Given the description of an element on the screen output the (x, y) to click on. 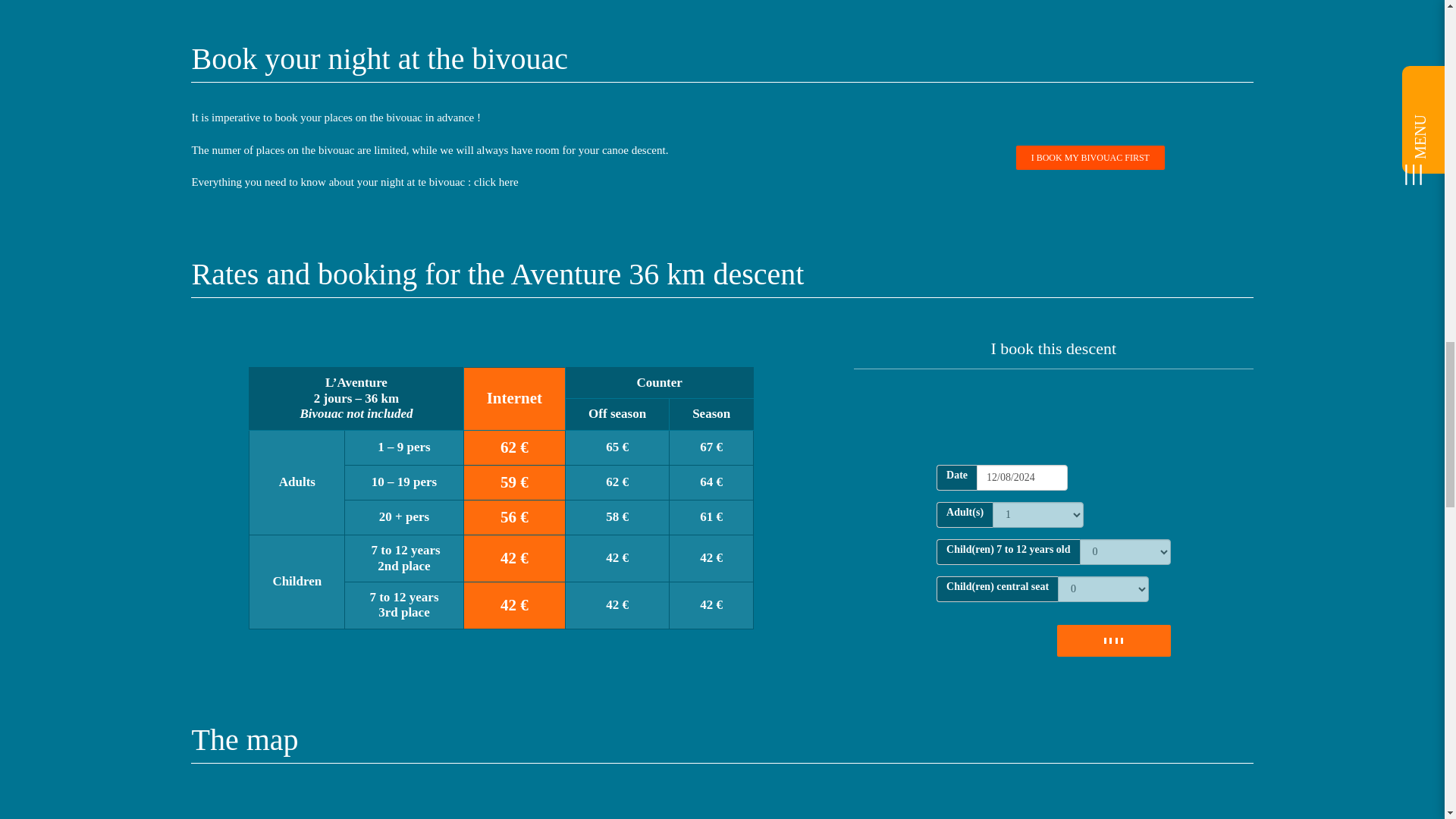
Descente 36 km (711, 804)
I BOOK MY BIVOUAC FIRST (1090, 157)
click here (496, 182)
